Given the description of an element on the screen output the (x, y) to click on. 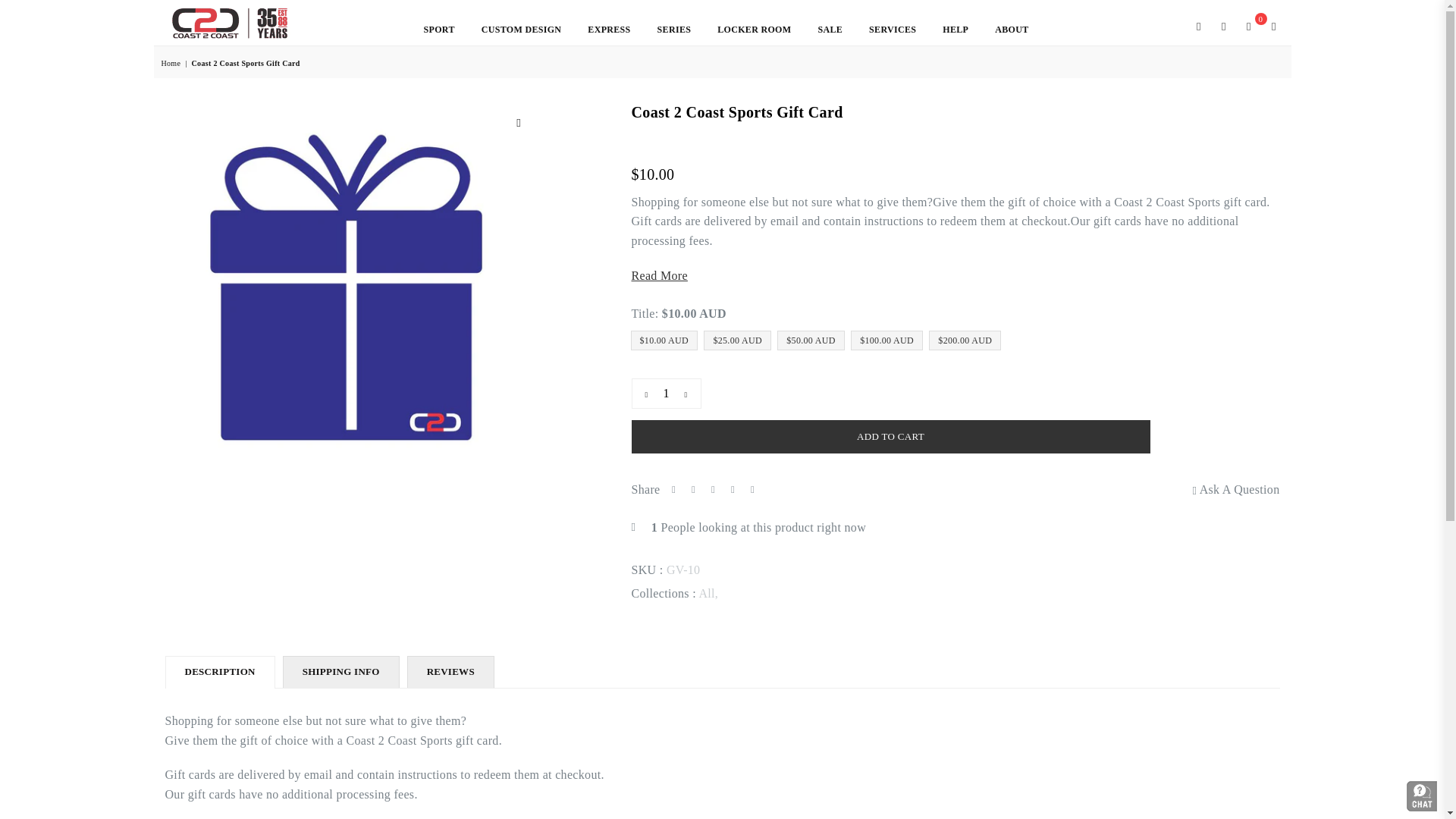
SEARCH (1198, 26)
Share by Email (752, 489)
SPORT (438, 30)
COAST 2 COAST SPORTS (229, 22)
Pin on Pinterest (713, 489)
Back to the home page (171, 62)
Share on Facebook (673, 489)
Logout (1223, 26)
MY CART (1248, 26)
Quantity (665, 393)
Tweet on Twitter (693, 489)
Share on Linkedin (732, 489)
